Given the description of an element on the screen output the (x, y) to click on. 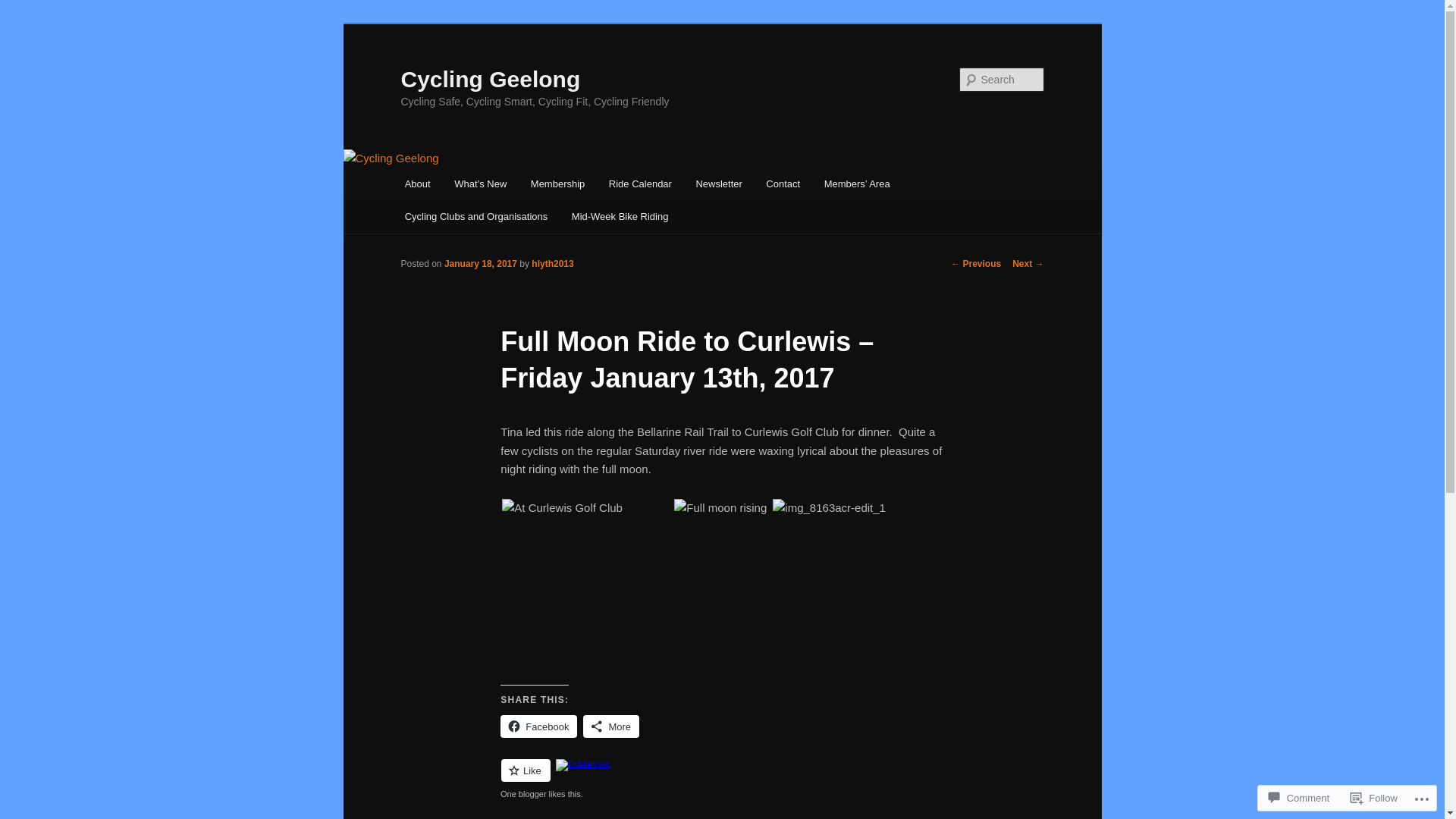
Membership Element type: text (557, 183)
Cycling Clubs and Organisations Element type: text (475, 216)
Skip to primary content Element type: text (22, 22)
img_8160acr-edit_1 Element type: hover (720, 507)
Like or Reblog Element type: hover (721, 779)
Mid-Week Bike Riding Element type: text (619, 216)
img_8163acr-edit_1 Element type: hover (828, 507)
Ride Calendar Element type: text (640, 183)
About Element type: text (417, 183)
Facebook Element type: text (538, 726)
hlyth2013 Element type: text (552, 263)
January 18, 2017 Element type: text (480, 263)
More Element type: text (611, 726)
Contact Element type: text (783, 183)
Cycling Geelong Element type: text (490, 78)
Search Element type: text (24, 8)
Follow Element type: text (1373, 797)
Newsletter Element type: text (719, 183)
Comment Element type: text (1298, 797)
img_8157acr-edit_1 Element type: hover (562, 507)
